Given the description of an element on the screen output the (x, y) to click on. 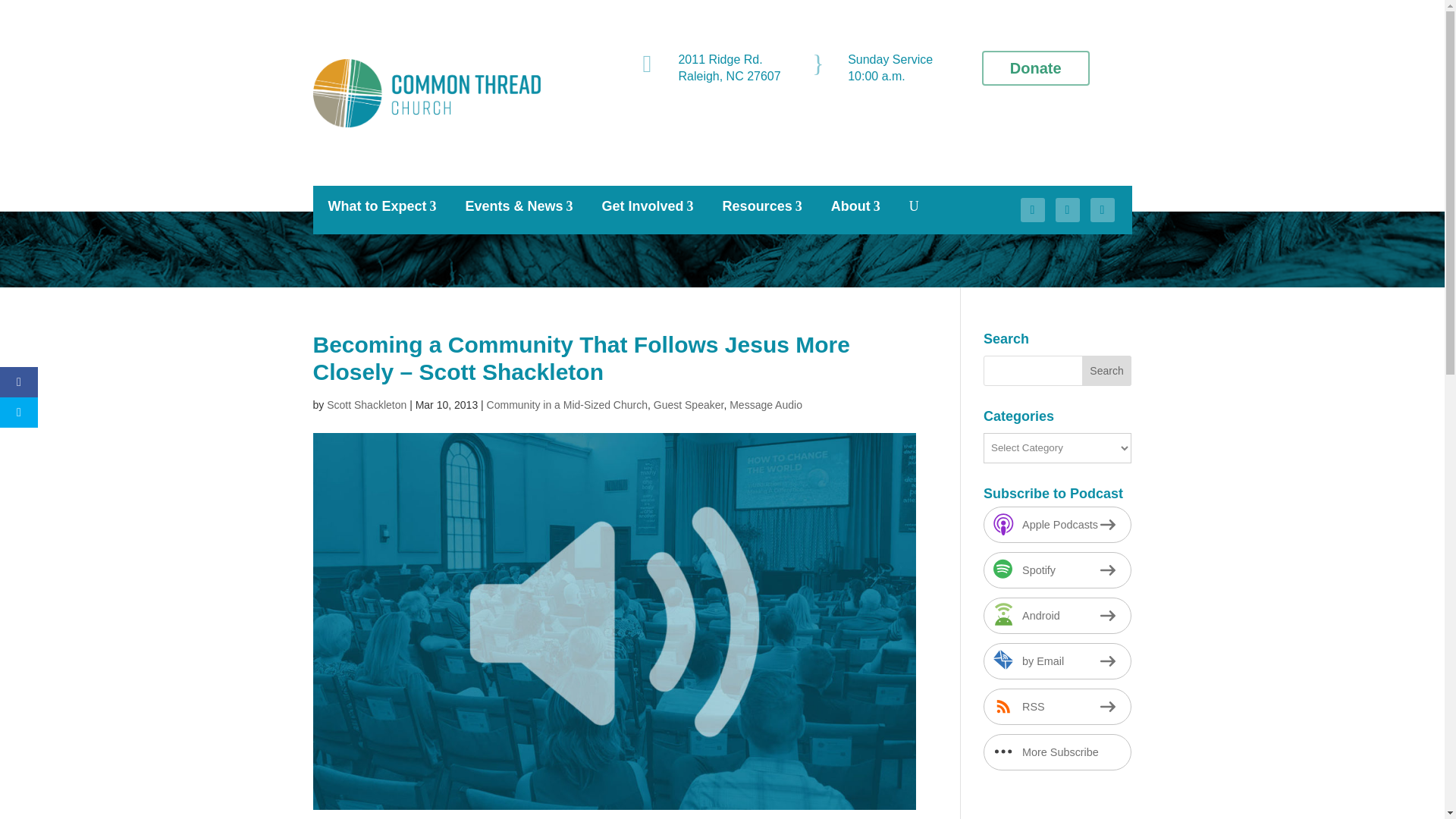
Subscribe on Android (1057, 615)
Search (1106, 370)
Donate (1035, 67)
Subscribe on Spotify (1057, 570)
Follow on Youtube (1102, 209)
Follow on Facebook (1032, 209)
Subscribe on Apple Podcasts (1057, 524)
Follow on Instagram (1067, 209)
Subscribe by Email (1057, 660)
Posts by Scott Shackleton (366, 404)
